Given the description of an element on the screen output the (x, y) to click on. 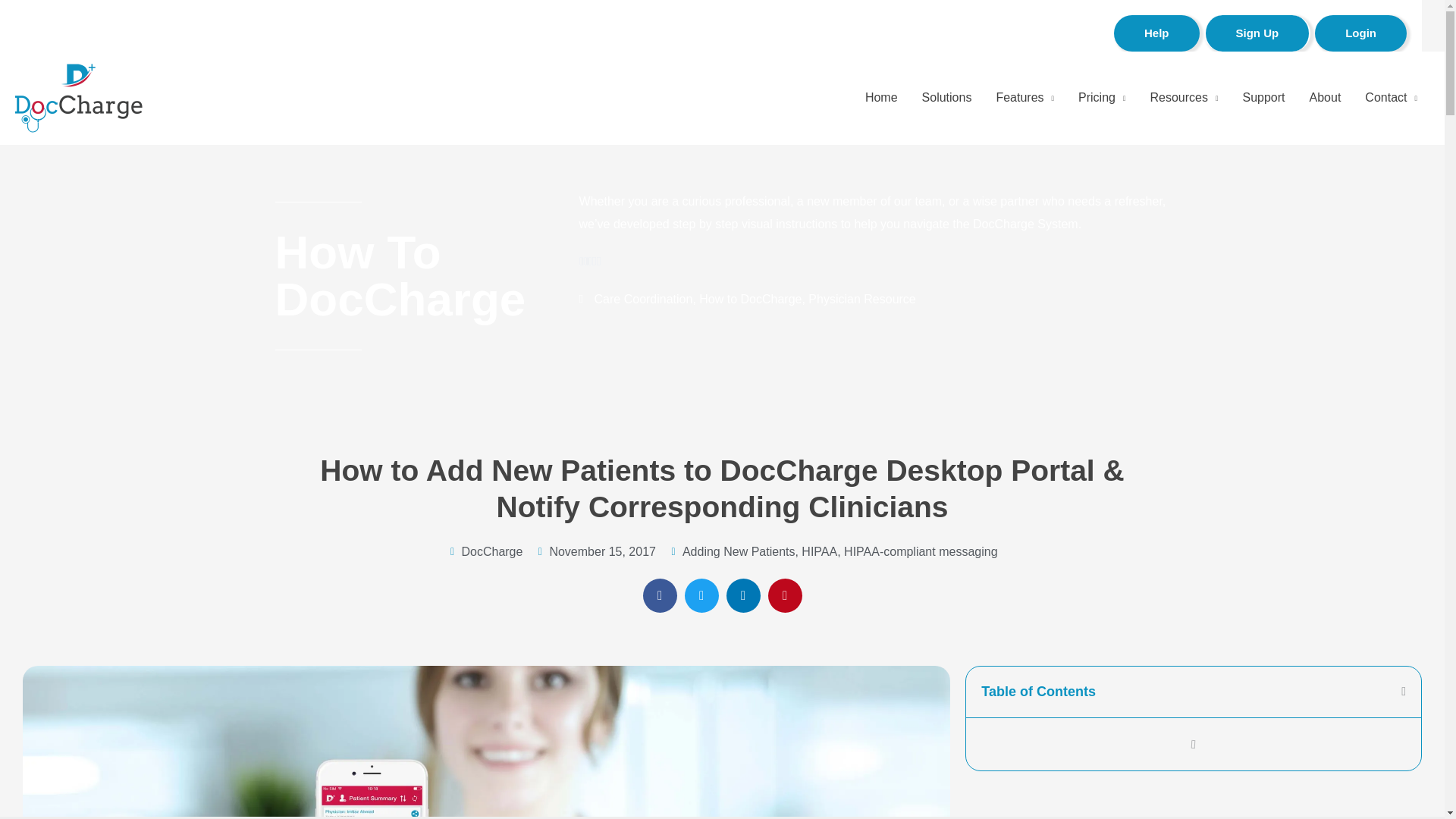
About (1325, 97)
Pricing (1101, 97)
Support (1263, 97)
Home (881, 97)
Resources (1183, 97)
Login (1360, 33)
Help (1156, 33)
Solutions (947, 97)
Sign Up (1257, 33)
Contact (1390, 97)
